Given the description of an element on the screen output the (x, y) to click on. 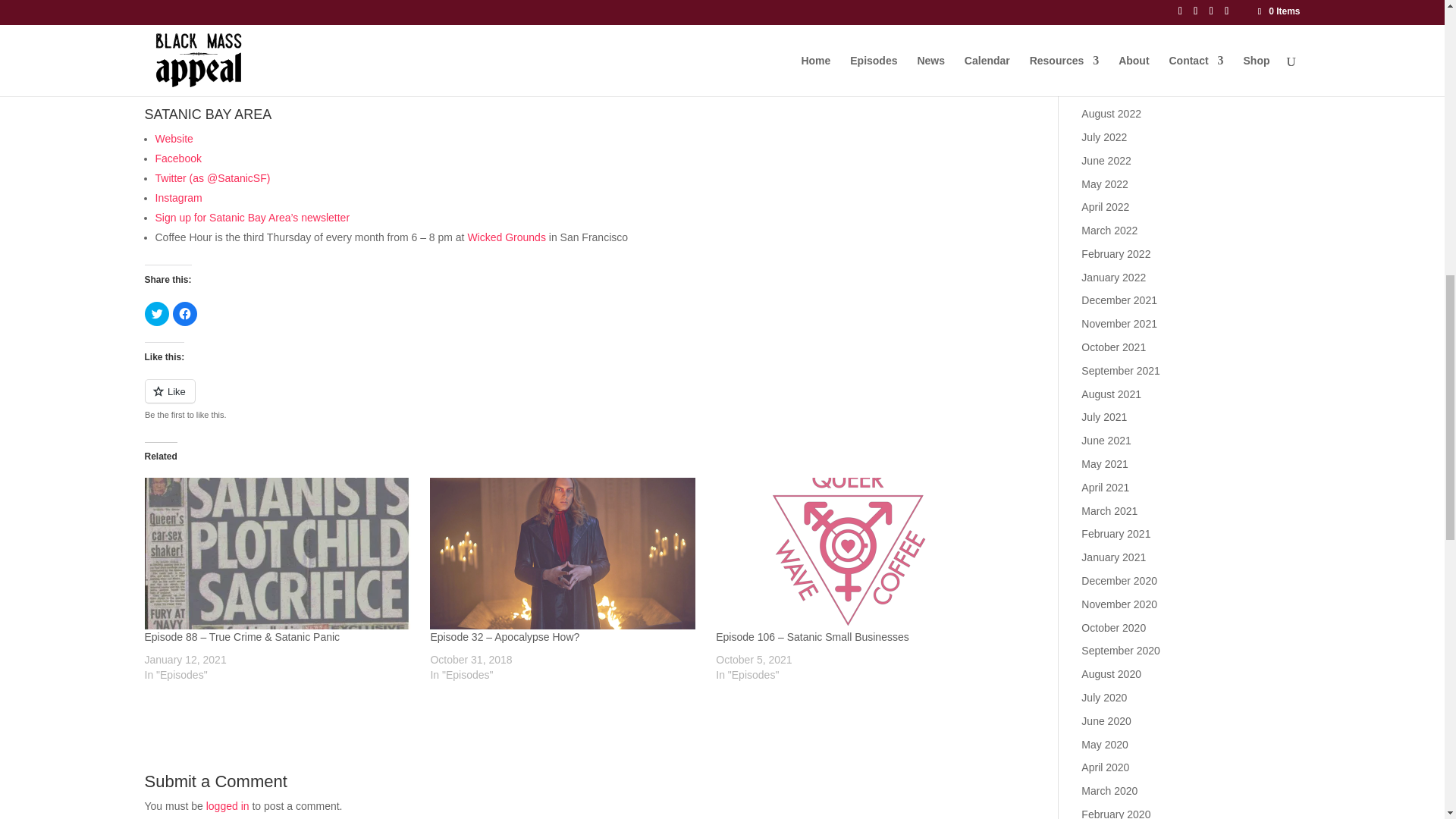
Patreon (173, 4)
Click to share on Facebook (184, 313)
Website (173, 138)
Facebook (177, 158)
Satanic Bay Area (173, 138)
Discord server (188, 42)
Instagram (178, 197)
Like or Reblog (569, 399)
Click to share on Twitter (156, 313)
Satanic Bay Area Facebook (177, 158)
